Given the description of an element on the screen output the (x, y) to click on. 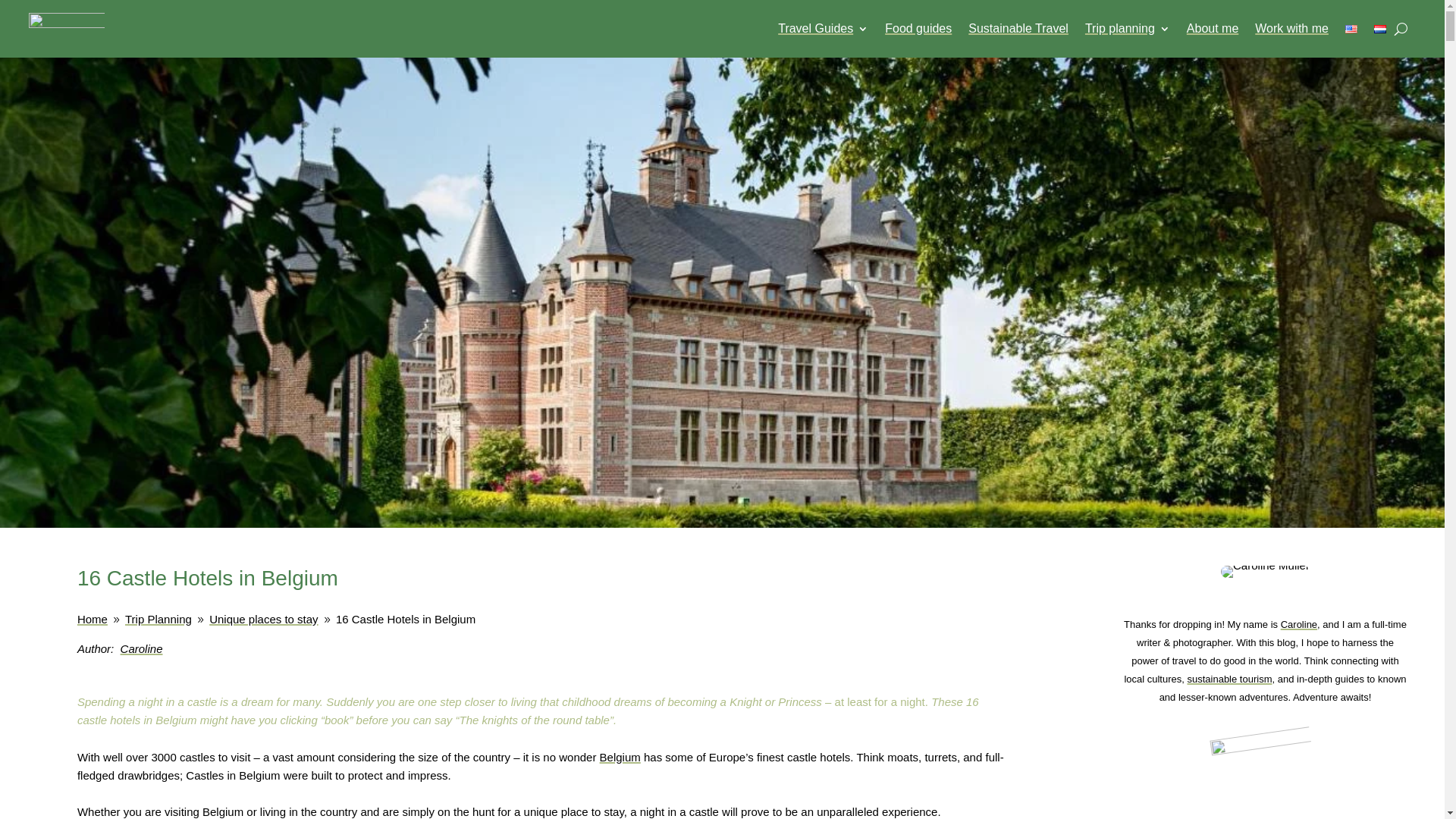
About me (1212, 28)
Unique places to stay (263, 618)
Trip Planning (158, 618)
Caroline (141, 648)
Travel Guides (822, 28)
Trip planning (1127, 28)
Sustainable Travel (1018, 28)
Work with me (1291, 28)
Food guides (918, 28)
Home (92, 618)
